Given the description of an element on the screen output the (x, y) to click on. 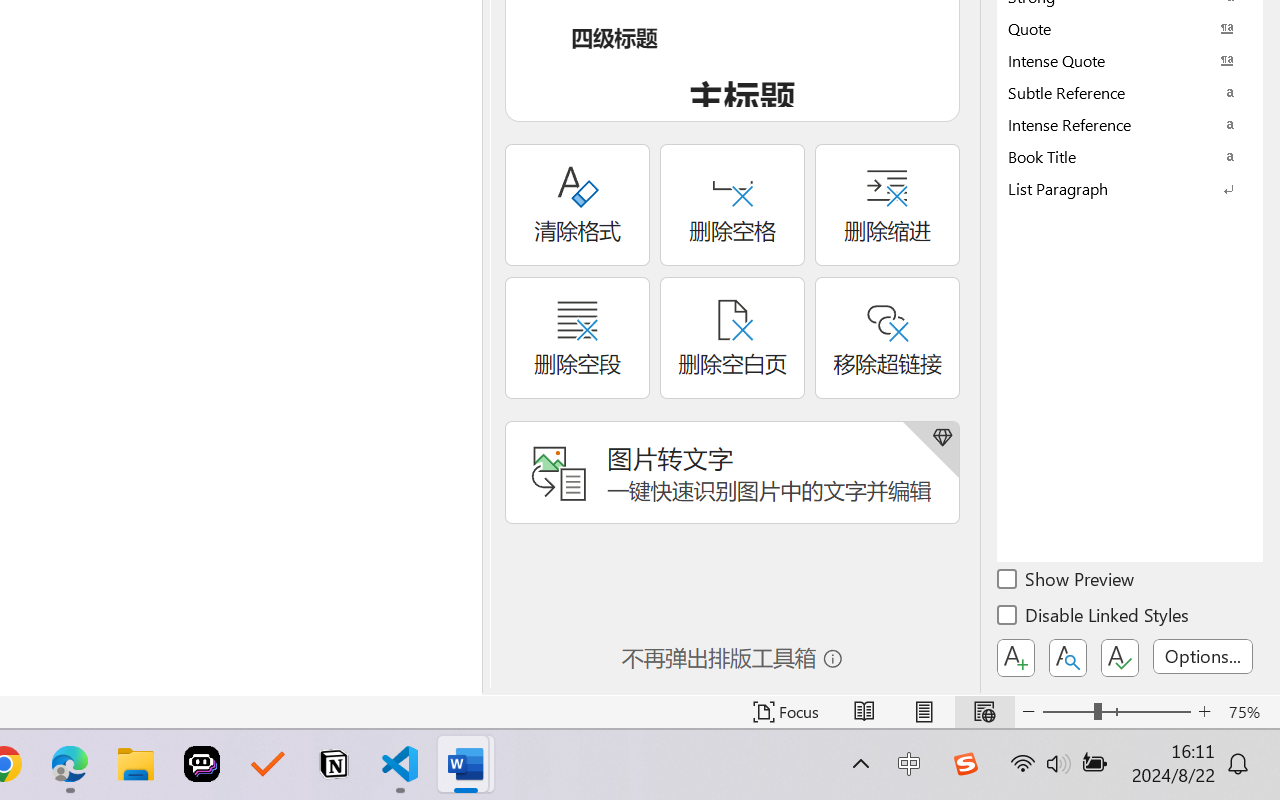
Intense Reference (1130, 124)
Disable Linked Styles (1094, 618)
Book Title (1130, 156)
Zoom In (1204, 712)
Options... (1203, 656)
List Paragraph (1130, 188)
Zoom (1116, 712)
Quote (1130, 28)
